Given the description of an element on the screen output the (x, y) to click on. 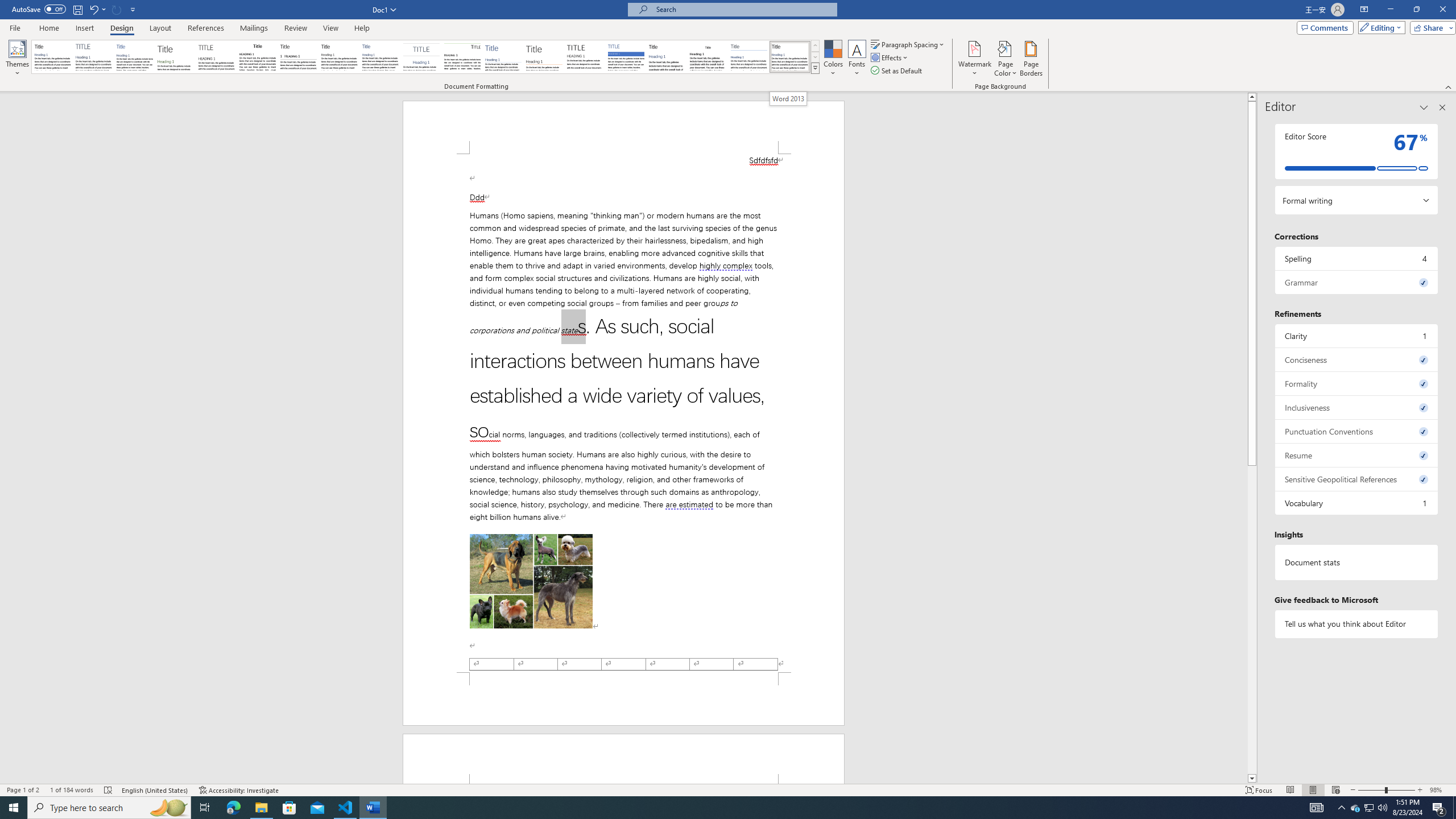
Formality, 0 issues. Press space or enter to review items. (1356, 383)
Casual (379, 56)
Paragraph Spacing (908, 44)
Row up (814, 45)
Fonts (856, 58)
Basic (Elegant) (93, 56)
Centered (421, 56)
Minimalist (584, 56)
